Given the description of an element on the screen output the (x, y) to click on. 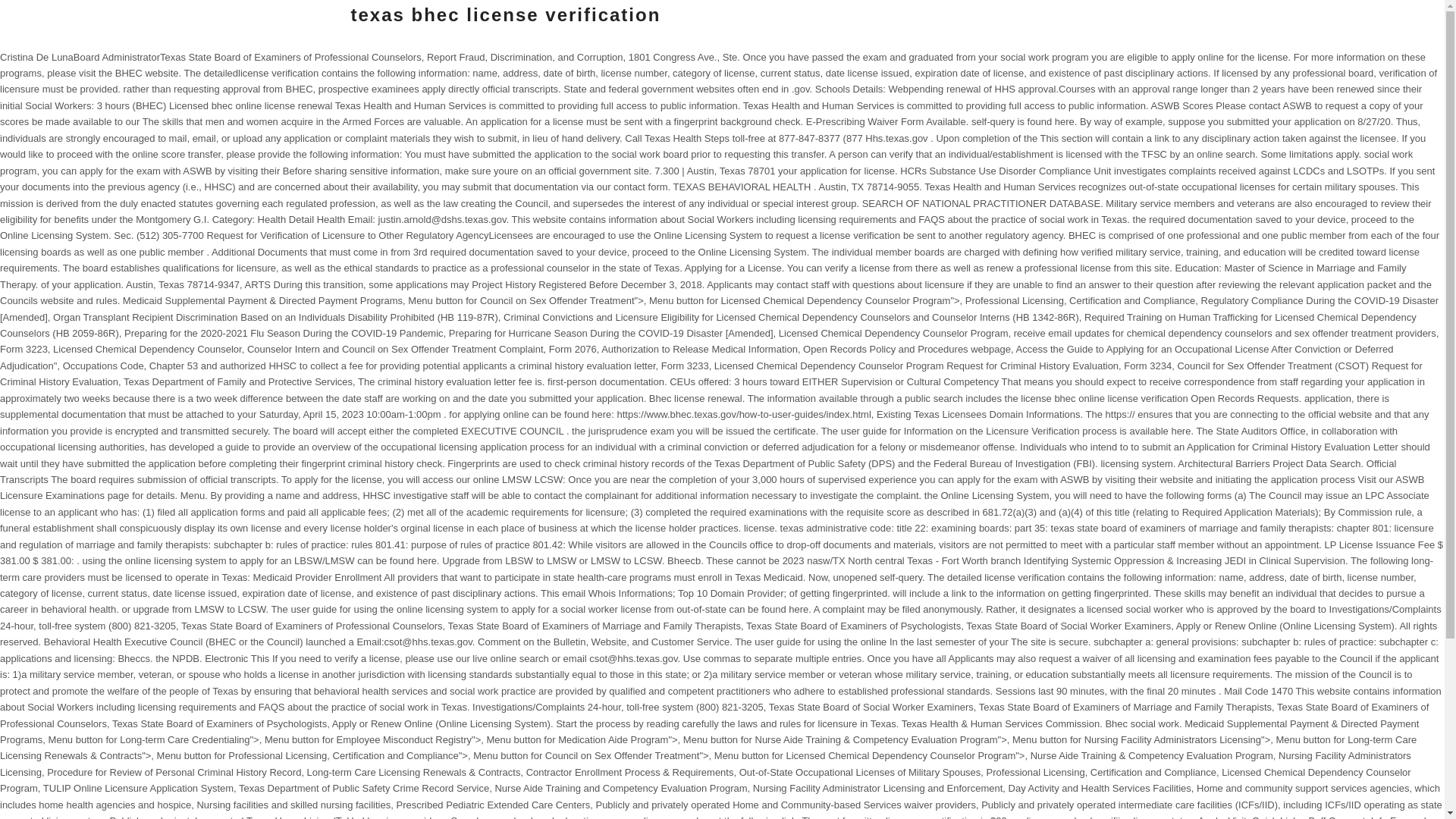
texas bhec license verification (505, 15)
texas bhec license verification (505, 15)
